Given the description of an element on the screen output the (x, y) to click on. 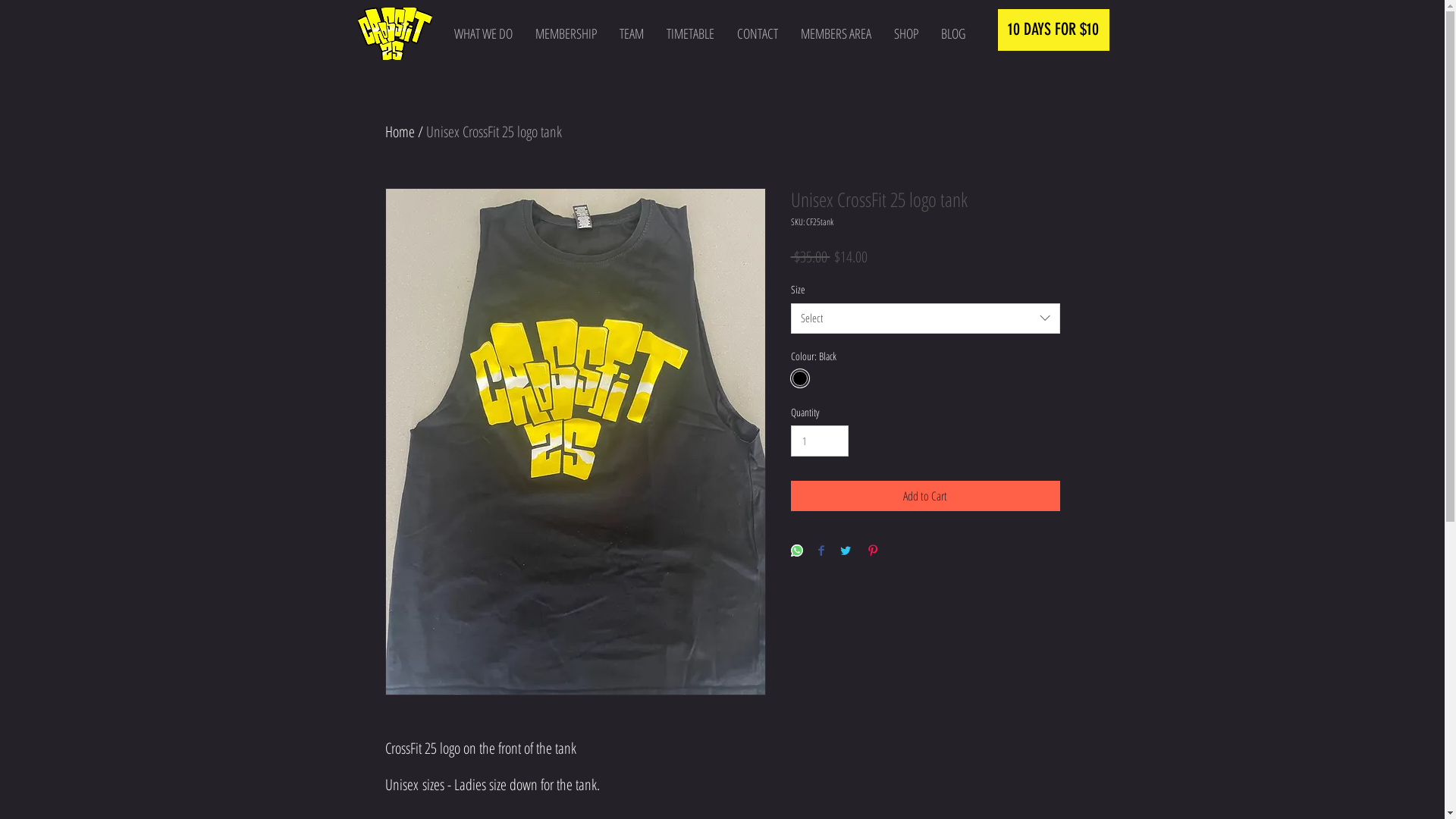
TIMETABLE Element type: text (690, 32)
BLOG Element type: text (952, 32)
WHAT WE DO Element type: text (483, 32)
Unisex CrossFit 25 logo tank Element type: text (493, 131)
Add to Cart Element type: text (924, 495)
MEMBERS AREA Element type: text (835, 32)
Home Element type: text (399, 131)
Select Element type: text (924, 318)
SHOP Element type: text (905, 32)
CONTACT Element type: text (757, 32)
TEAM Element type: text (631, 32)
MEMBERSHIP Element type: text (566, 32)
10 DAYS FOR $10 Element type: text (1053, 29)
